Given the description of an element on the screen output the (x, y) to click on. 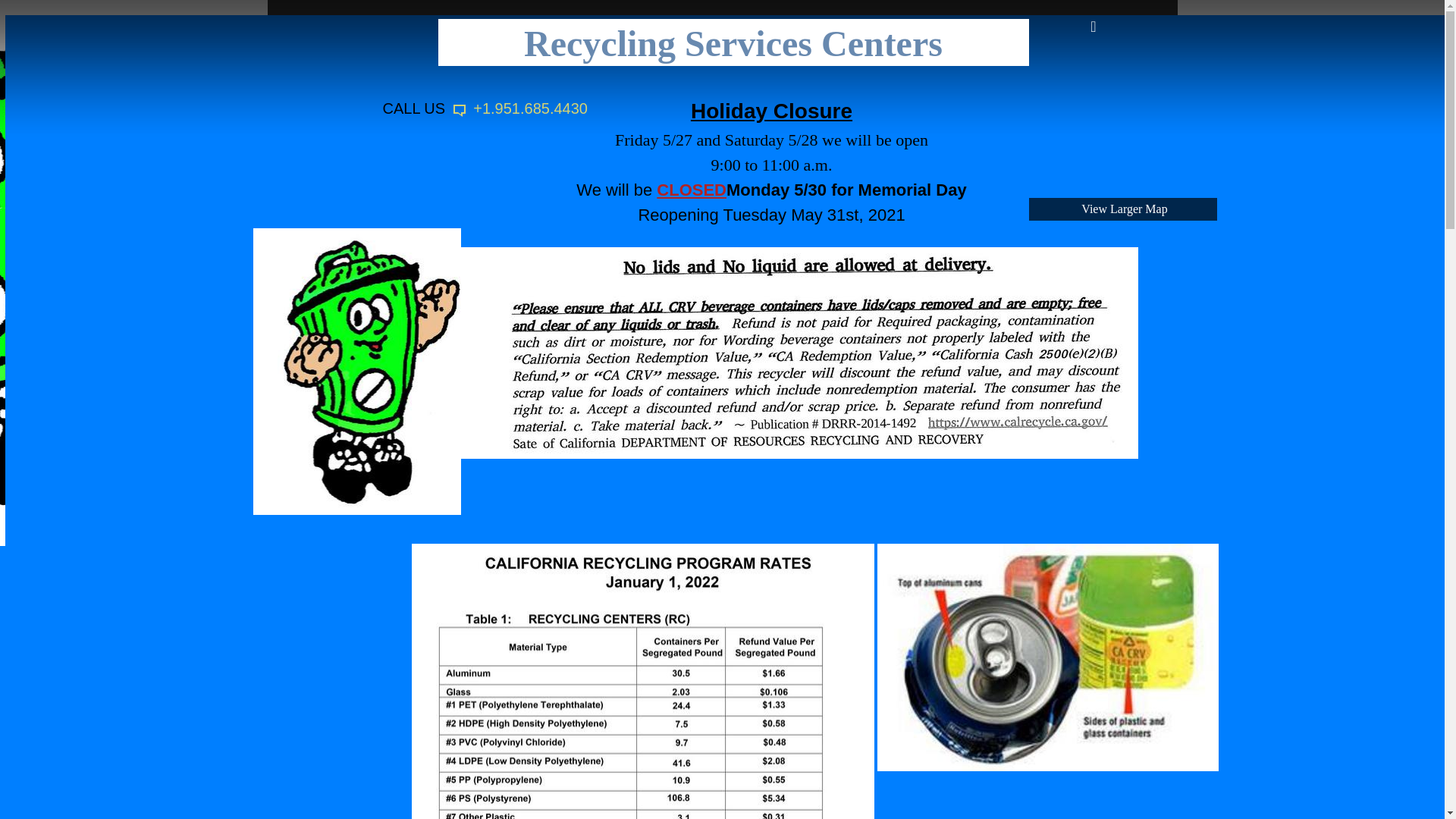
Enter text Element type: text (1090, 30)
View Larger Map Element type: text (1122, 208)
